Given the description of an element on the screen output the (x, y) to click on. 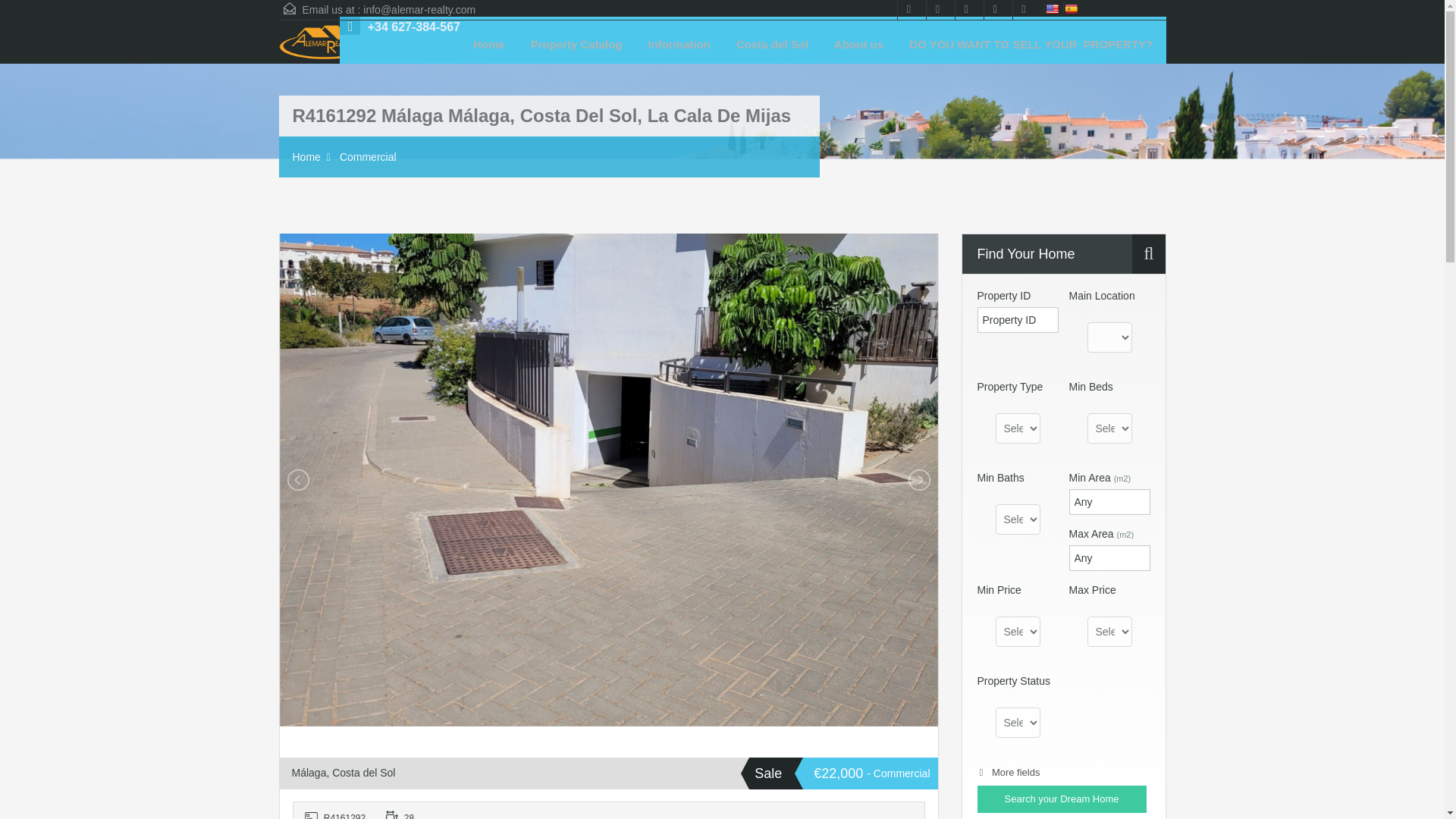
DO YOU WANT TO SELL YOUR  PROPERTY? (1031, 44)
About us (858, 44)
Real estate in Spain, purchase, sale, rent. (324, 43)
Only provide digits! (1109, 557)
English (1050, 8)
Spanish (1069, 8)
Search your Dream Home (1060, 799)
Property Catalog (576, 44)
Information (678, 44)
Only provide digits! (1109, 501)
